Given the description of an element on the screen output the (x, y) to click on. 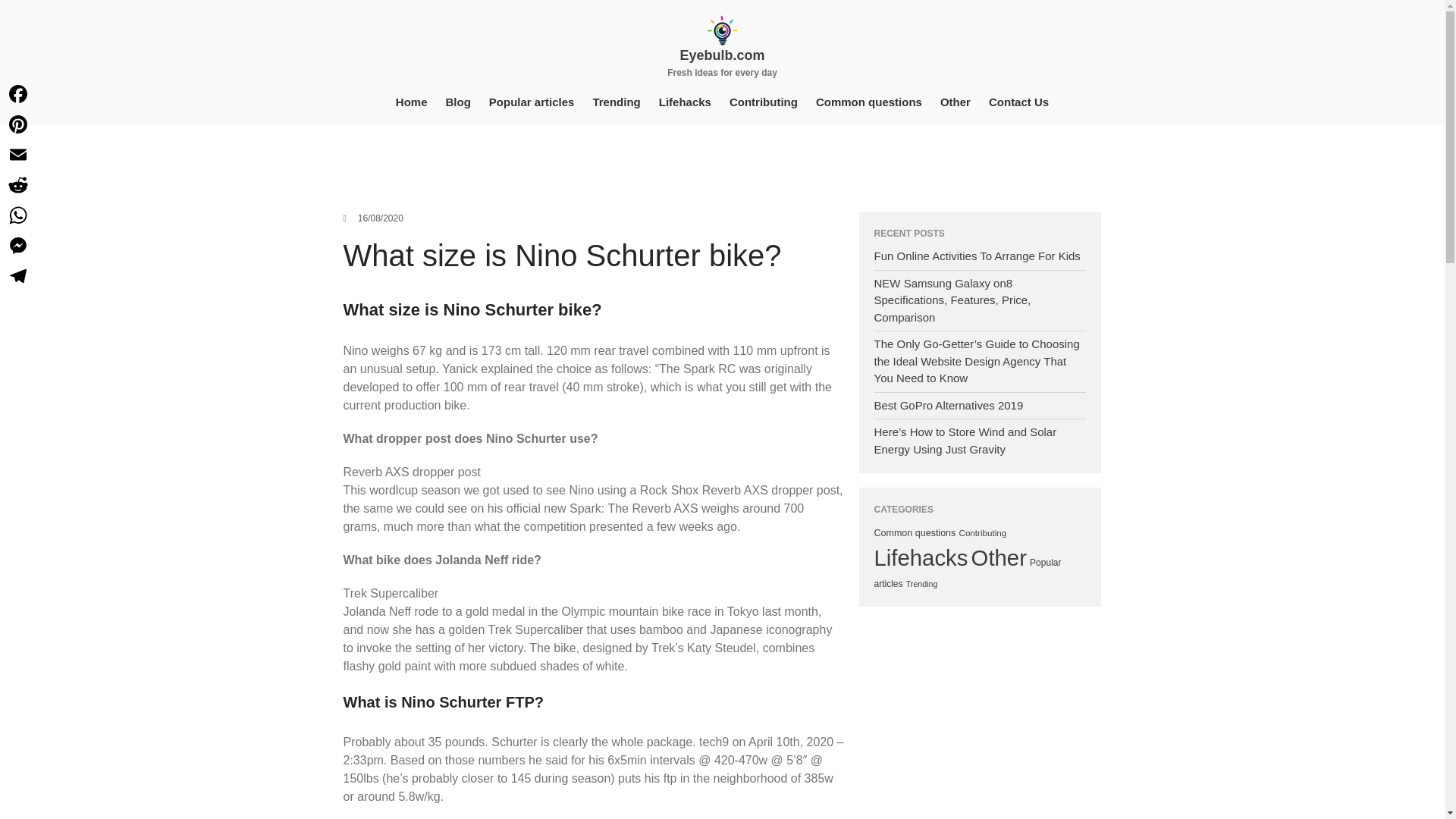
Home (411, 102)
Contributing (763, 102)
Common questions (869, 102)
Common questions (914, 532)
Pinterest (17, 123)
WhatsApp (17, 214)
Telegram (17, 276)
Eyebulb.com (721, 55)
Best GoPro Alternatives 2019 (948, 404)
Fun Online Activities To Arrange For Kids (976, 255)
Reddit (17, 184)
Popular articles (531, 102)
Contributing (982, 532)
Lifehacks (920, 557)
